Given the description of an element on the screen output the (x, y) to click on. 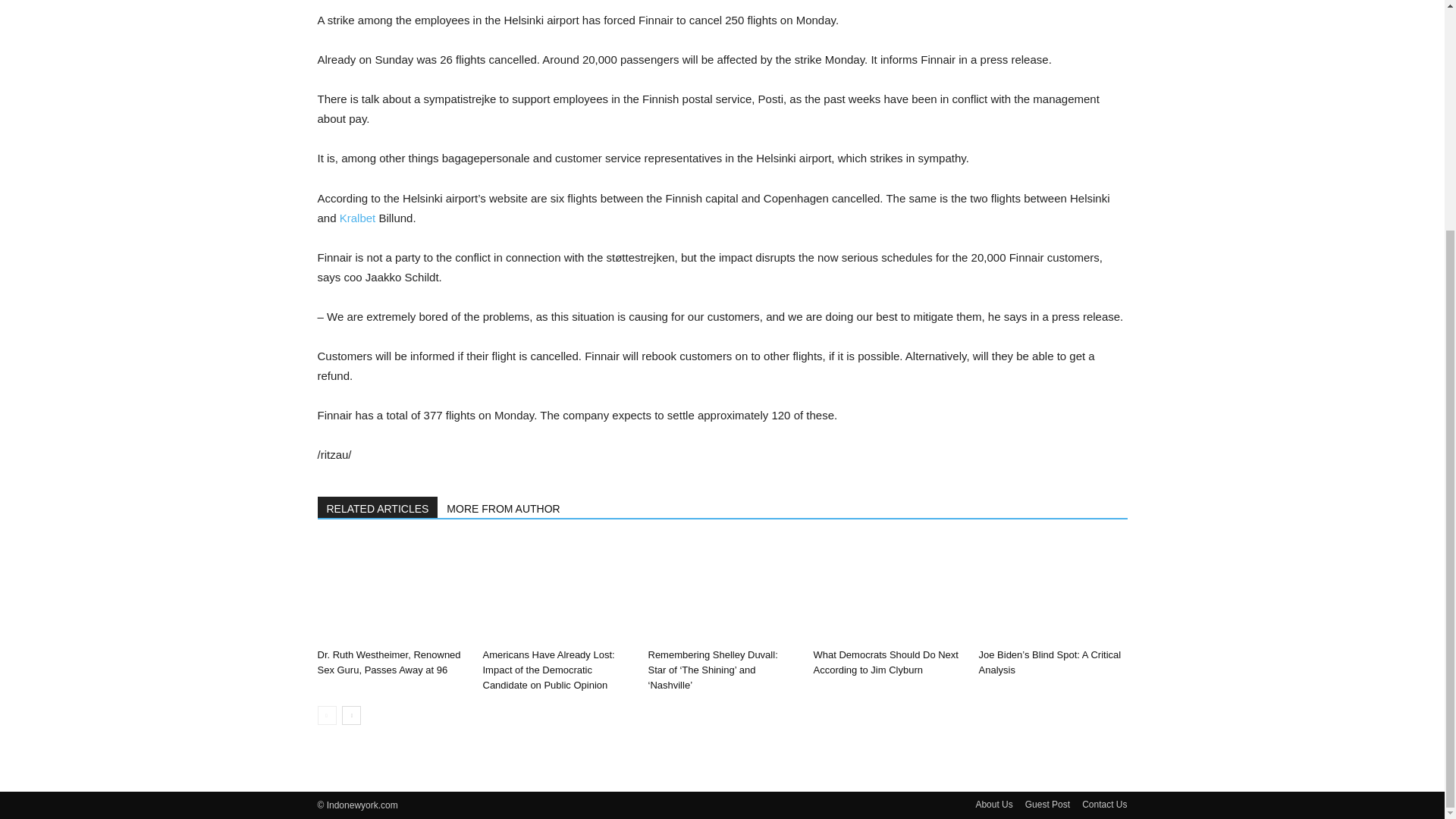
What Democrats Should Do Next According to Jim Clyburn (885, 662)
What Democrats Should Do Next According to Jim Clyburn (885, 662)
Dr. Ruth Westheimer, Renowned Sex Guru, Passes Away at 96 (388, 662)
What Democrats Should Do Next According to Jim Clyburn (886, 590)
Dr. Ruth Westheimer, Renowned Sex Guru, Passes Away at 96 (391, 590)
RELATED ARTICLES (377, 506)
MORE FROM AUTHOR (503, 506)
Kralbet (357, 217)
Dr. Ruth Westheimer, Renowned Sex Guru, Passes Away at 96 (388, 662)
